Given the description of an element on the screen output the (x, y) to click on. 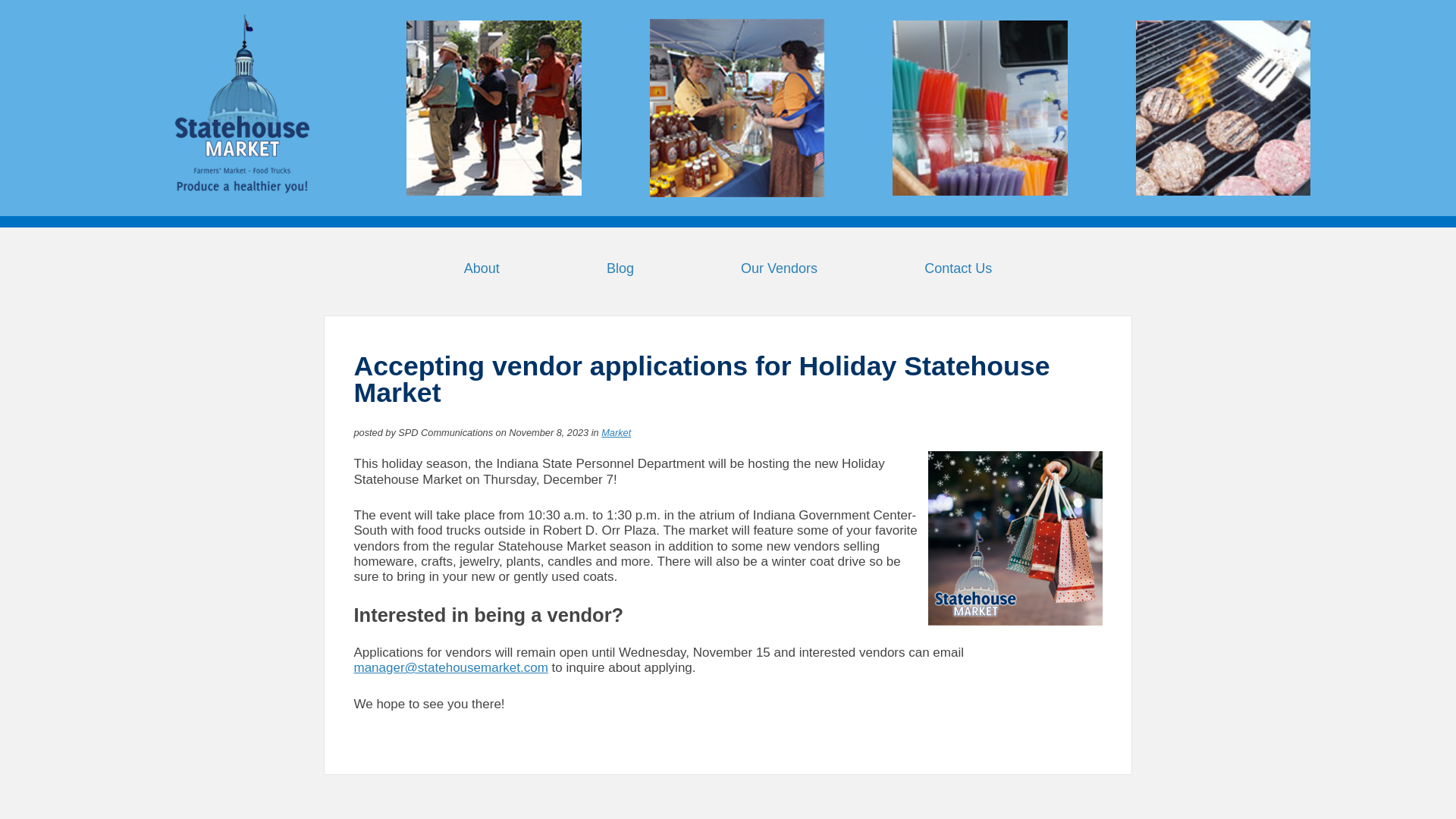
Accepting vendor applications for Holiday Statehouse Market (701, 379)
Our Vendors (778, 268)
About (481, 268)
Blog (620, 268)
Contact Us (957, 268)
Market (615, 432)
